Given the description of an element on the screen output the (x, y) to click on. 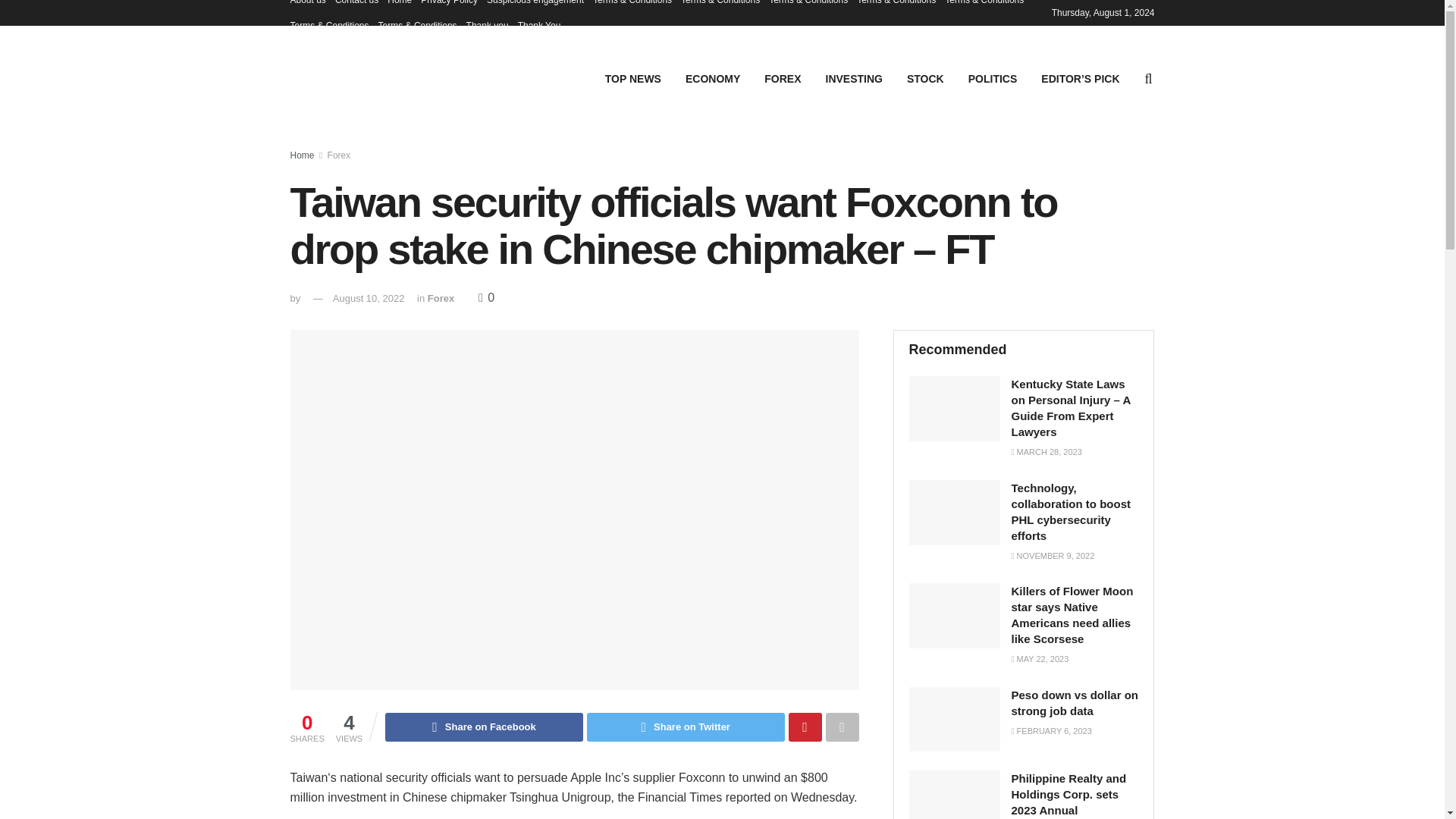
Home (301, 154)
Home (399, 6)
Forex (338, 154)
Contact us (356, 6)
Suspicious engagement (534, 6)
TOP NEWS (632, 78)
FOREX (782, 78)
Privacy Policy (448, 6)
STOCK (925, 78)
POLITICS (992, 78)
Thank you (486, 25)
INVESTING (854, 78)
ECONOMY (712, 78)
Thank You (539, 25)
About us (306, 6)
